Given the description of an element on the screen output the (x, y) to click on. 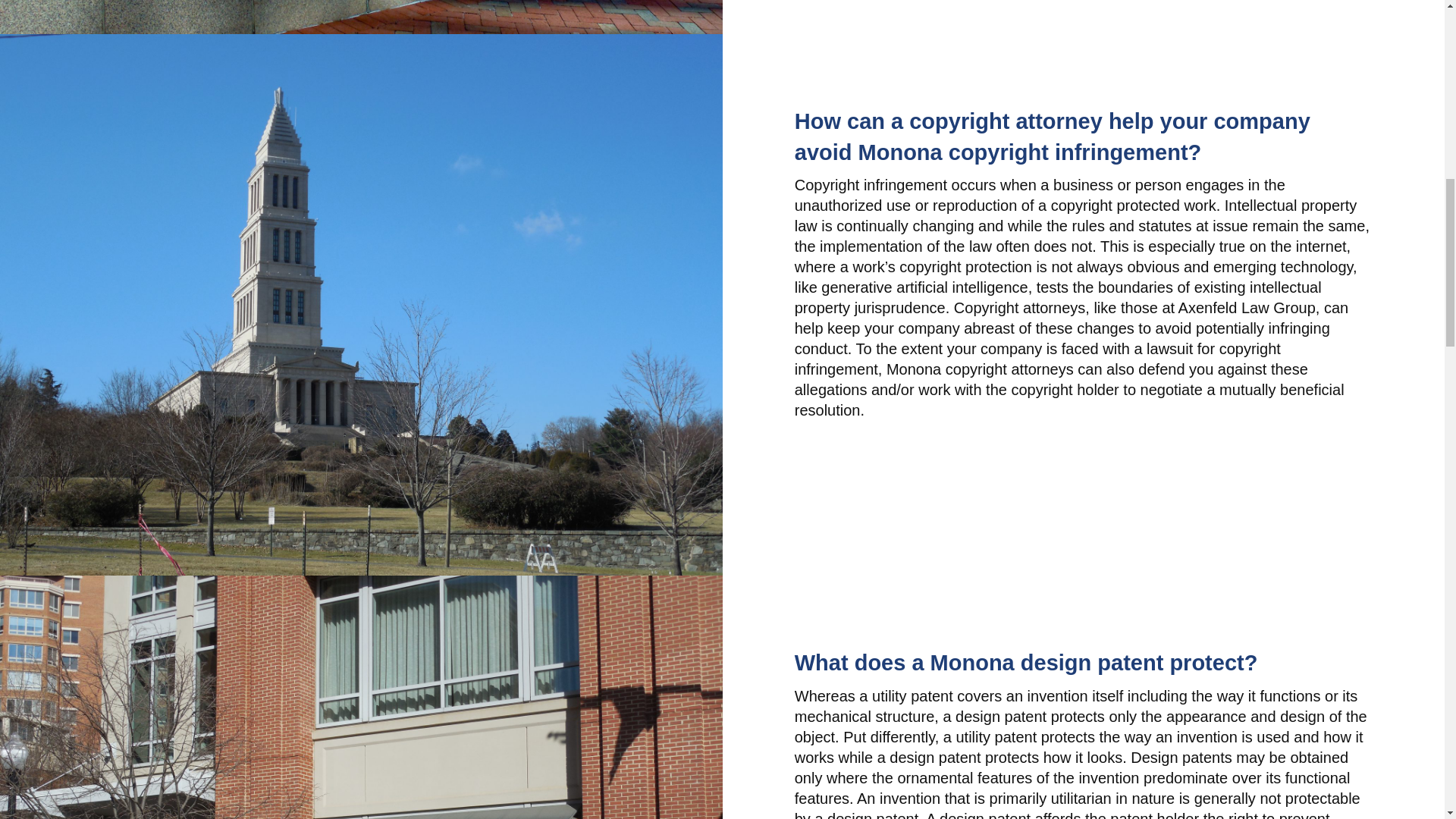
Organic SEO Services in the Monona WI area (361, 16)
